Given the description of an element on the screen output the (x, y) to click on. 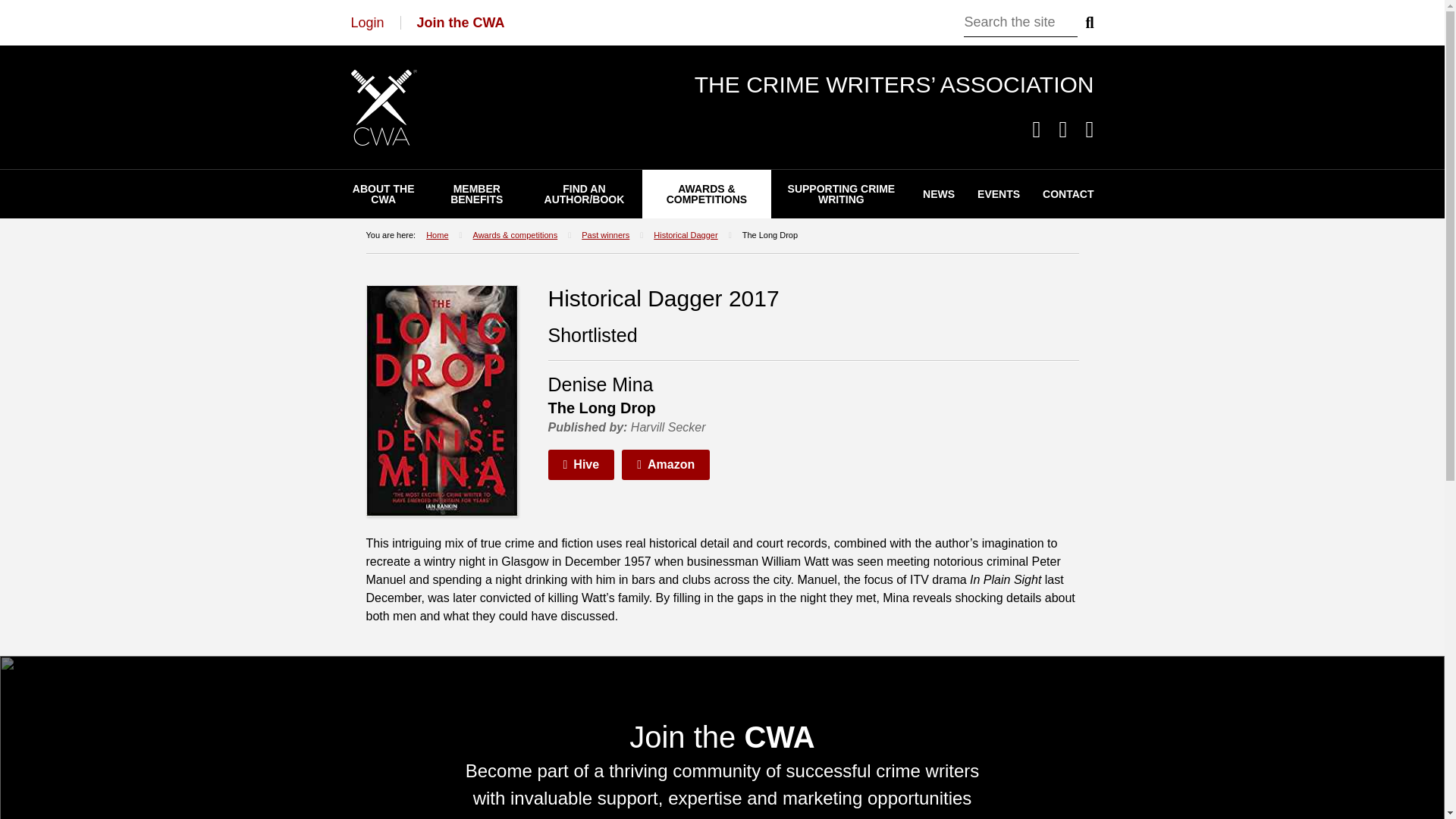
Join the CWA (460, 22)
ABOUT THE CWA (383, 193)
Login (367, 22)
MEMBER BENEFITS (476, 193)
